Given the description of an element on the screen output the (x, y) to click on. 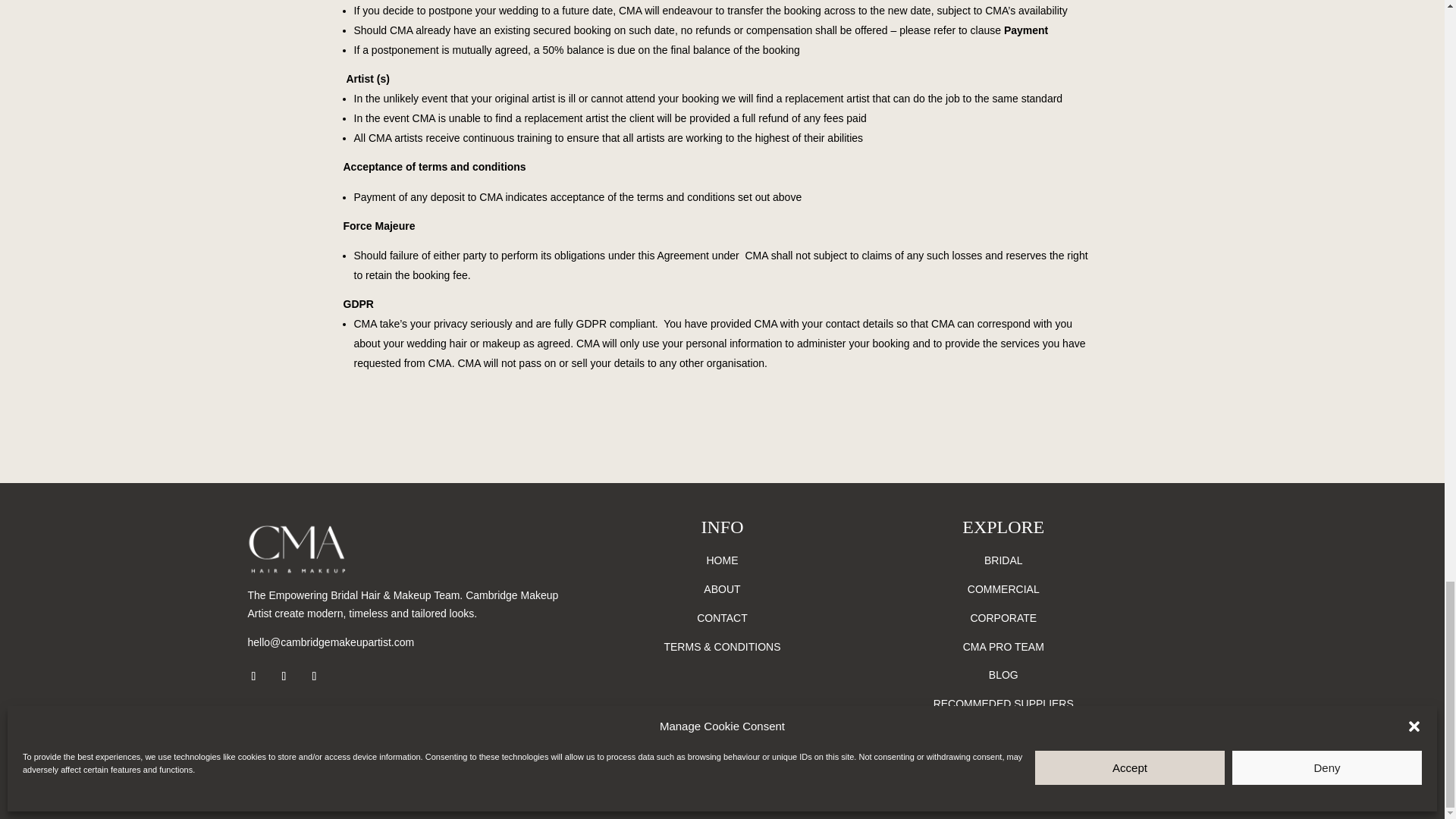
White (375, 590)
Follow on Facebook (252, 676)
HOME (722, 560)
Follow on Instagram (282, 676)
Follow on Pinterest (313, 676)
